Given the description of an element on the screen output the (x, y) to click on. 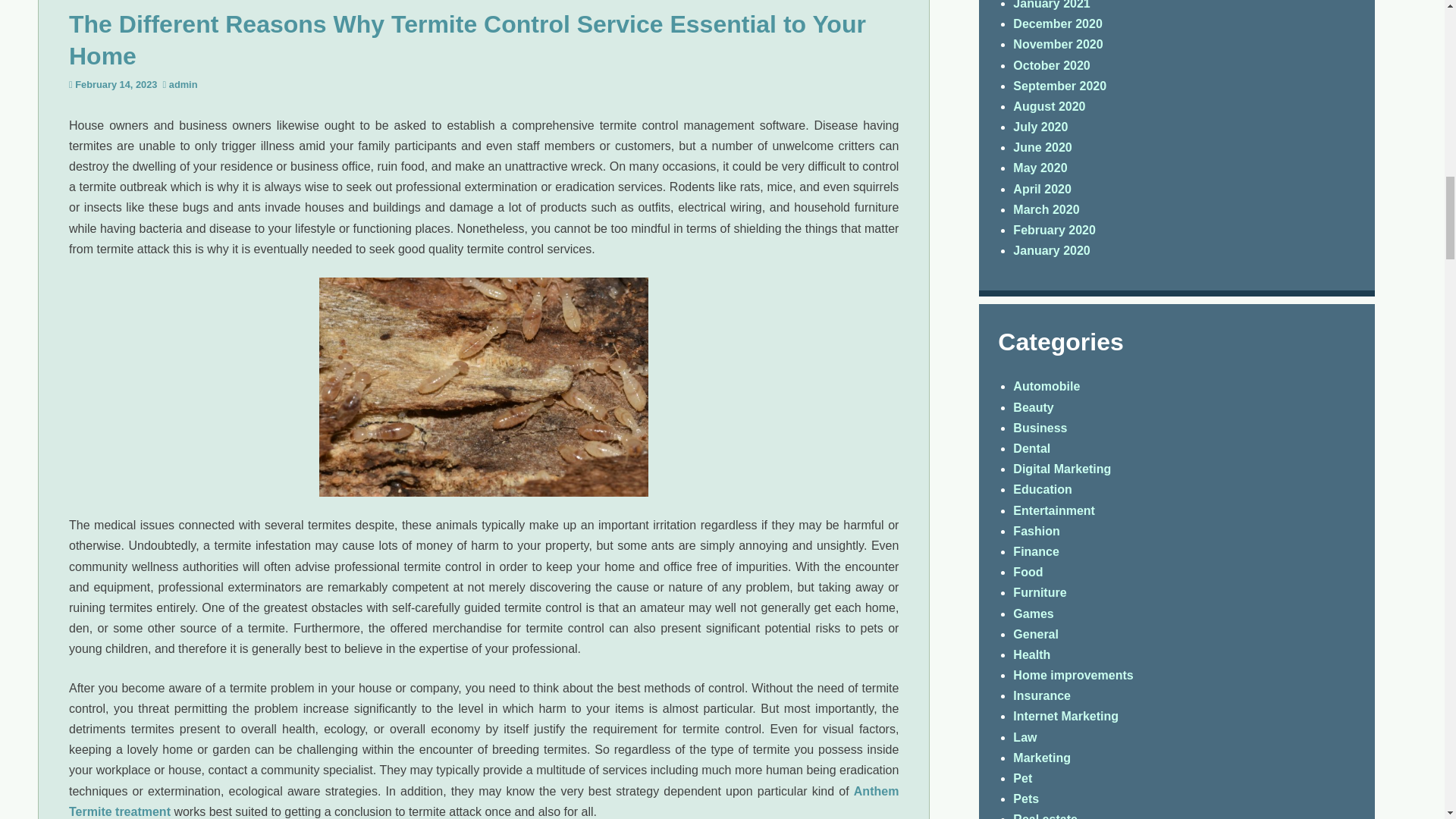
Anthem Termite treatment (483, 800)
admin (183, 84)
February 14, 2023 (116, 84)
